Given the description of an element on the screen output the (x, y) to click on. 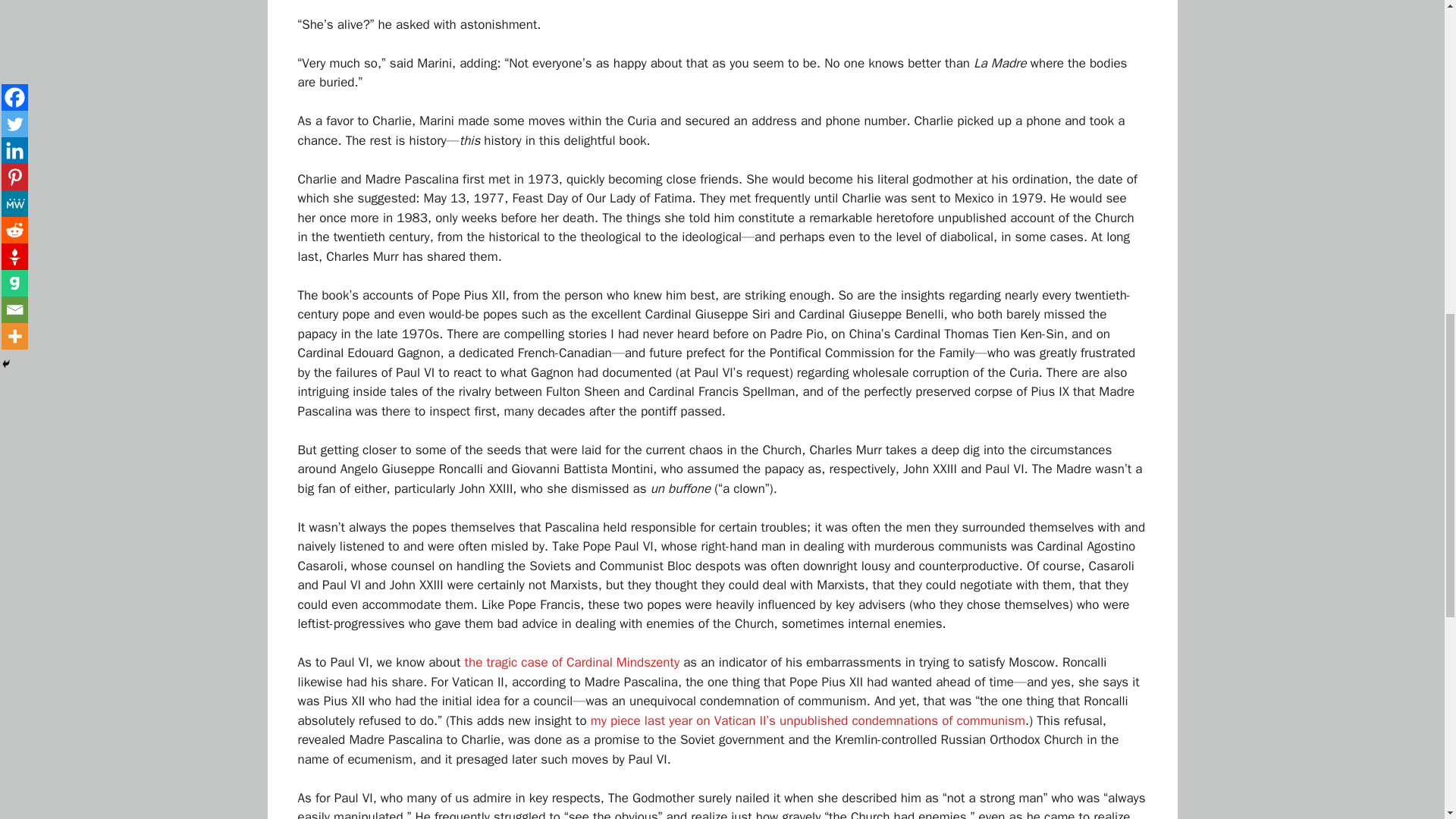
the tragic case of Cardinal Mindszenty (571, 662)
